Given the description of an element on the screen output the (x, y) to click on. 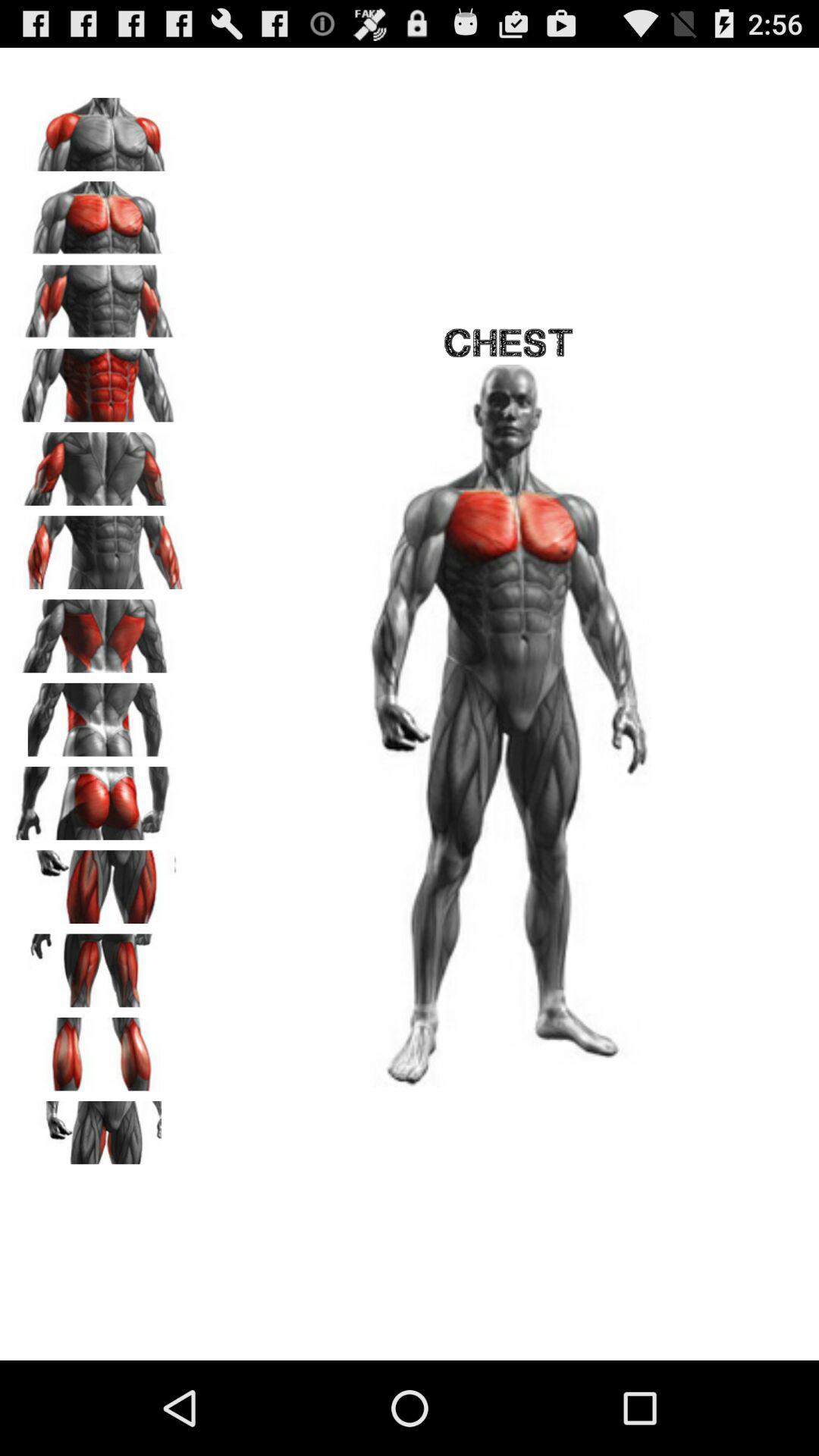
go to thighs (99, 881)
